Given the description of an element on the screen output the (x, y) to click on. 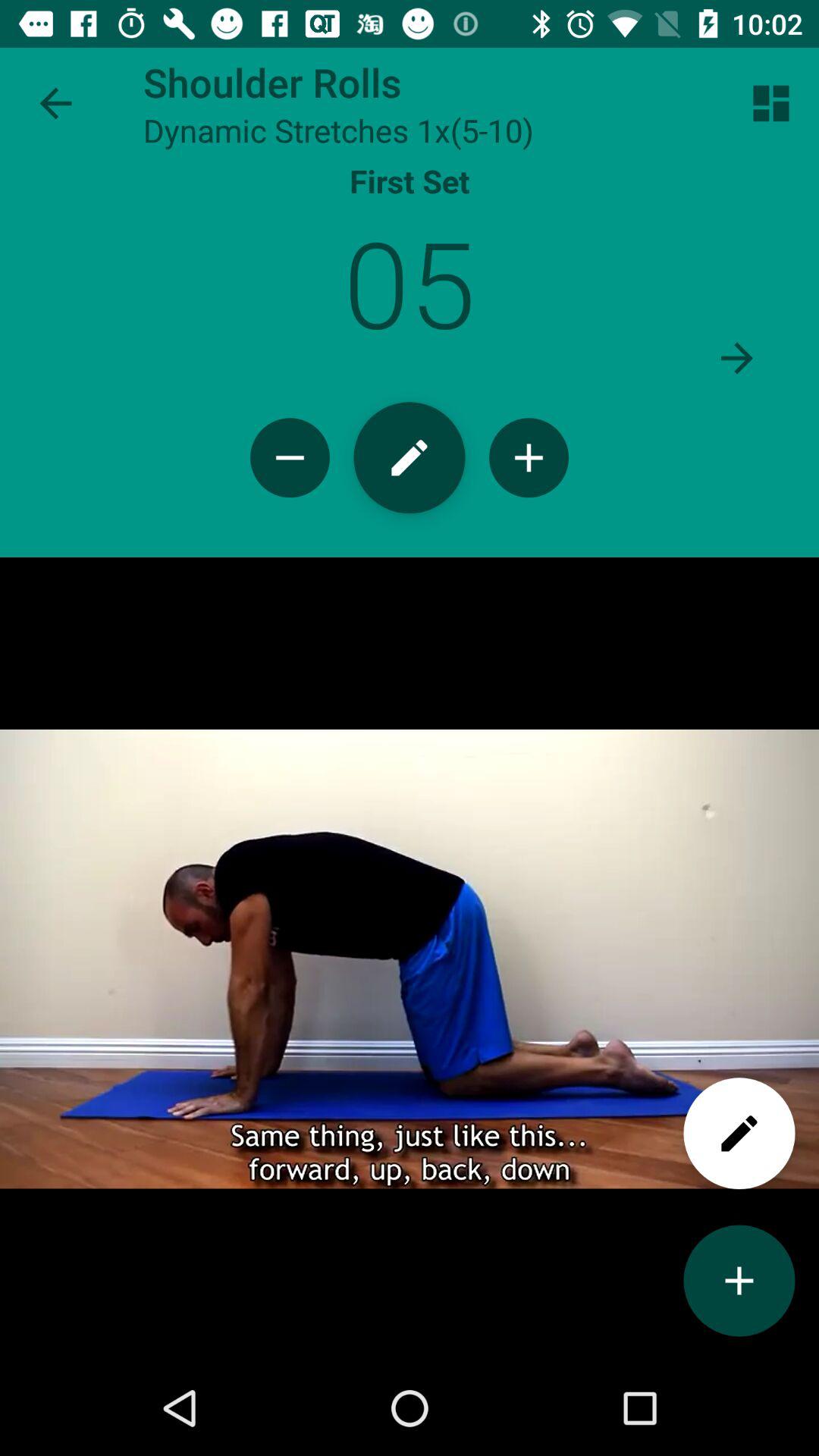
click to edit option (739, 1133)
